Given the description of an element on the screen output the (x, y) to click on. 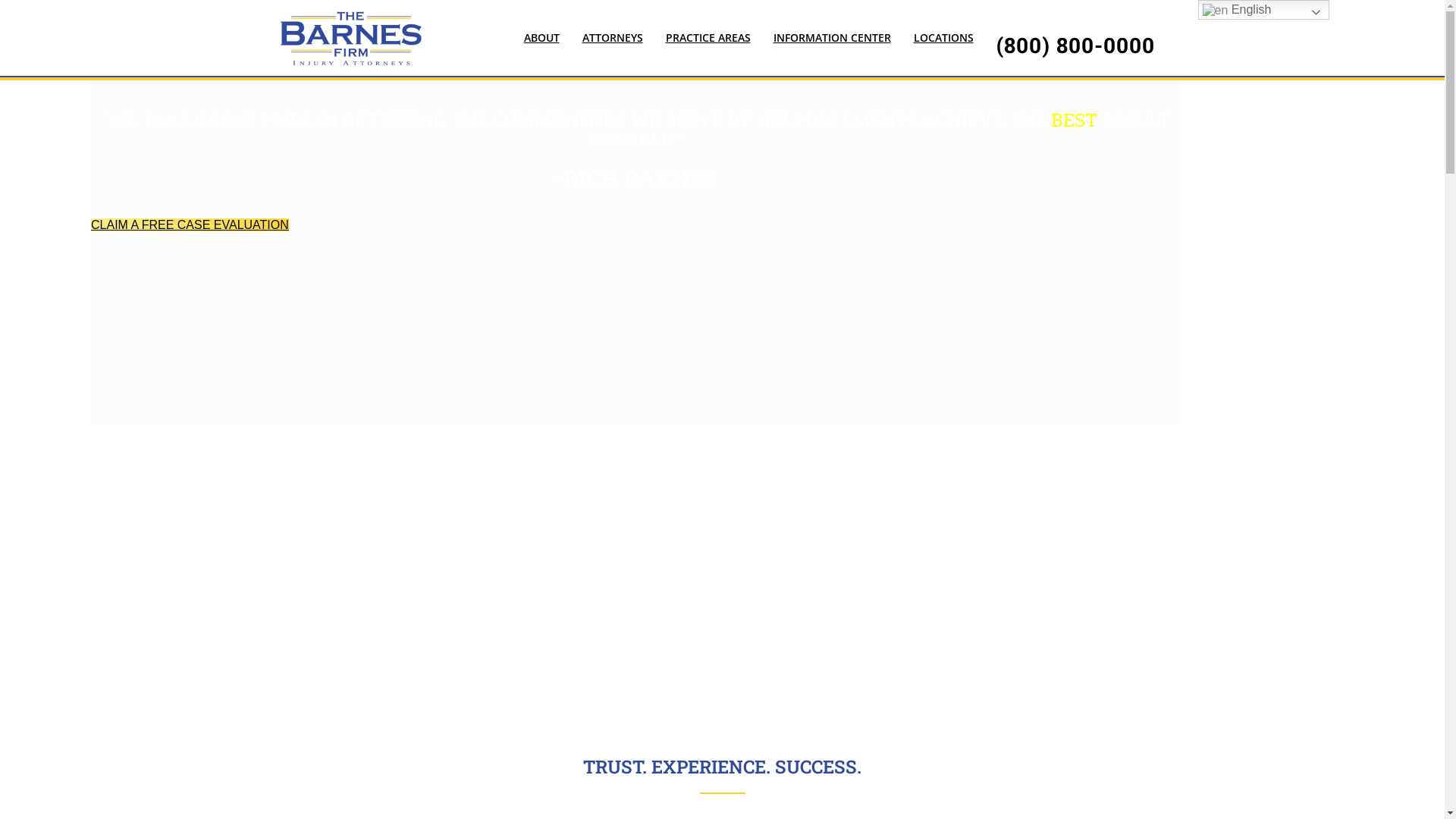
PRACTICE AREAS Element type: text (707, 37)
(800) 800-0000 Element type: text (1075, 45)
ATTORNEYS Element type: text (611, 37)
LOCATIONS Element type: text (943, 37)
ABOUT Element type: text (541, 37)
CLAIM A FREE CASE EVALUATION Element type: text (189, 224)
English Element type: text (1263, 9)
INFORMATION CENTER Element type: text (831, 37)
